Given the description of an element on the screen output the (x, y) to click on. 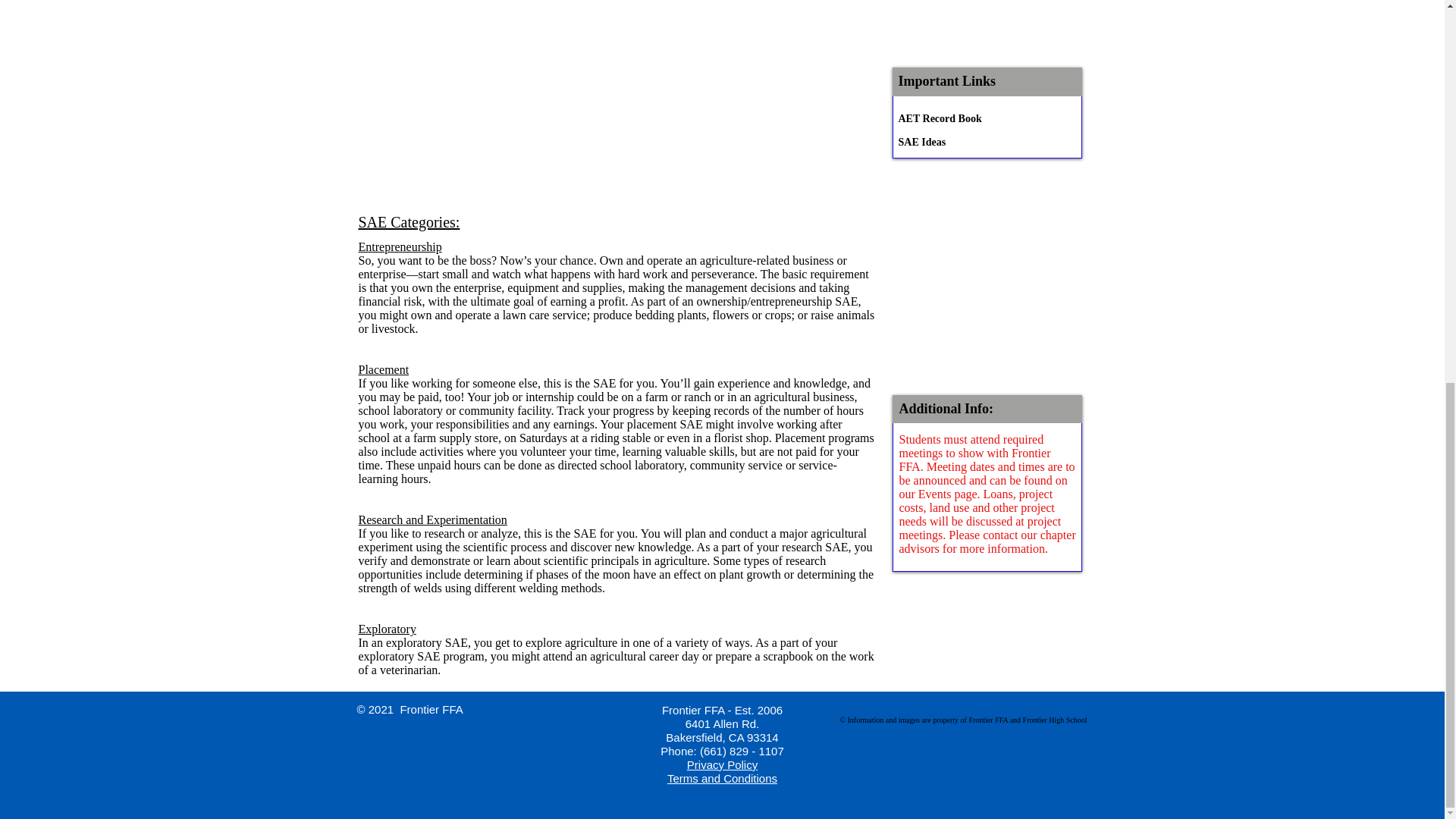
Terms and Conditions (721, 778)
Privacy Policy (722, 764)
External Vimeo (615, 101)
AET Record Book (952, 119)
SAE Ideas (952, 142)
